Given the description of an element on the screen output the (x, y) to click on. 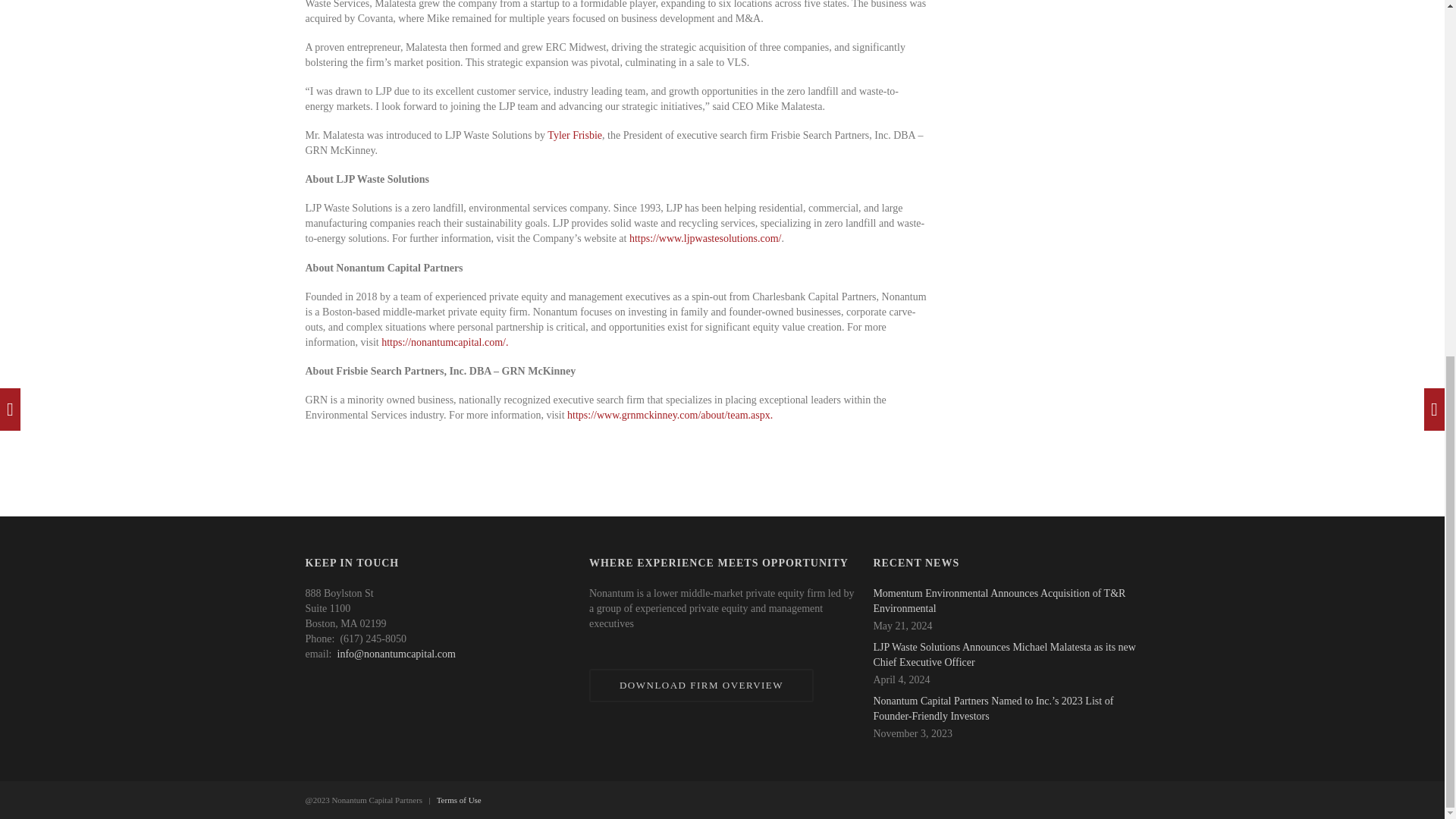
Tyler Frisbie (574, 134)
Terms of Use (458, 799)
DOWNLOAD FIRM OVERVIEW (701, 685)
